Given the description of an element on the screen output the (x, y) to click on. 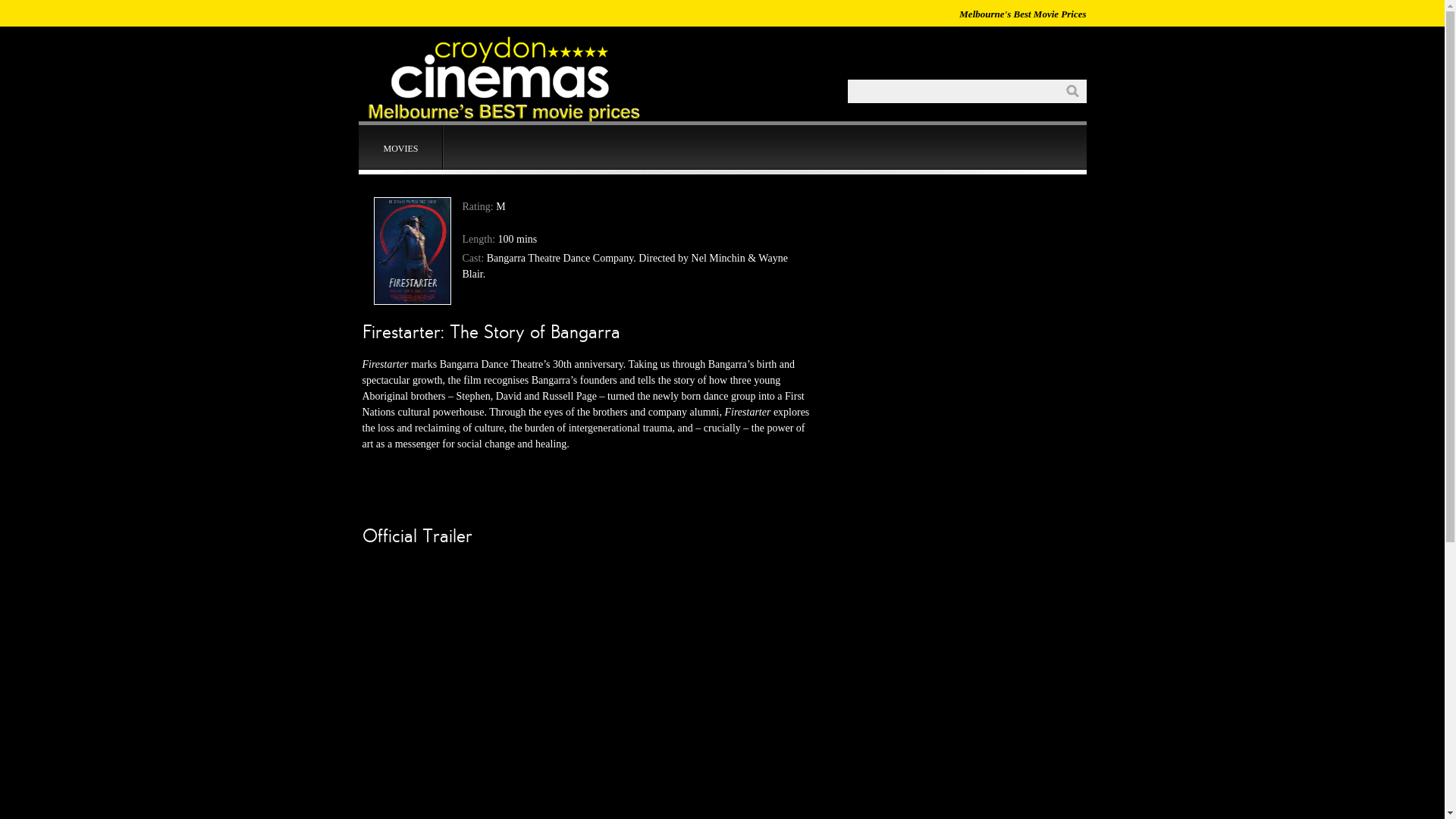
MOVIES Element type: text (399, 147)
Melbourne's Best Movie Prices Element type: hover (596, 121)
Search Element type: text (1072, 91)
